Given the description of an element on the screen output the (x, y) to click on. 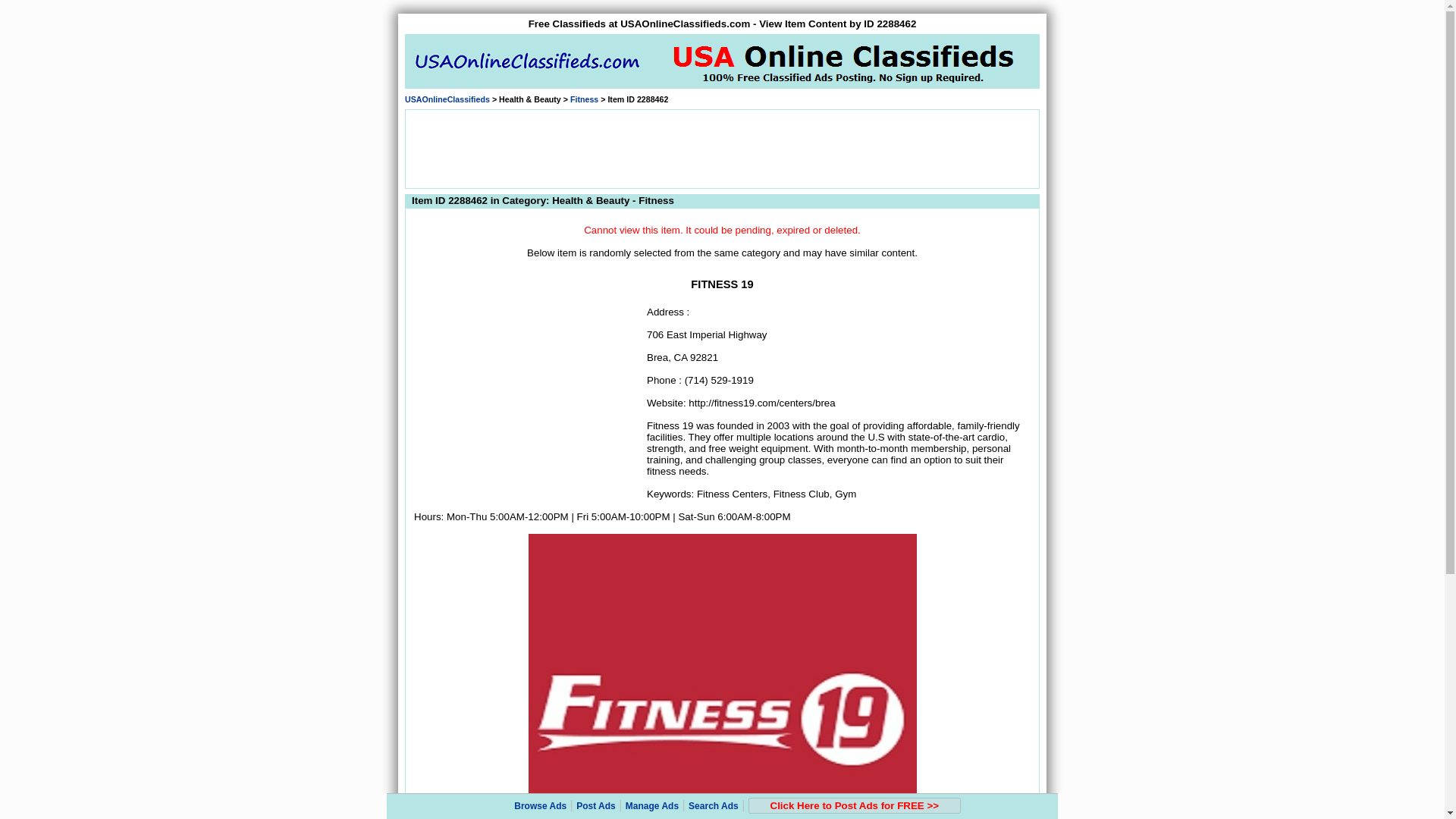
Go Back to USAOnlineClassifieds.com Home Page (446, 99)
Browse Ads (539, 805)
Search Ads (713, 805)
USAOnlineClassifieds (446, 99)
Post Ads (595, 805)
Fitness (584, 99)
Manage Ads (652, 805)
Advertisement (721, 147)
Advertisement (527, 399)
